Given the description of an element on the screen output the (x, y) to click on. 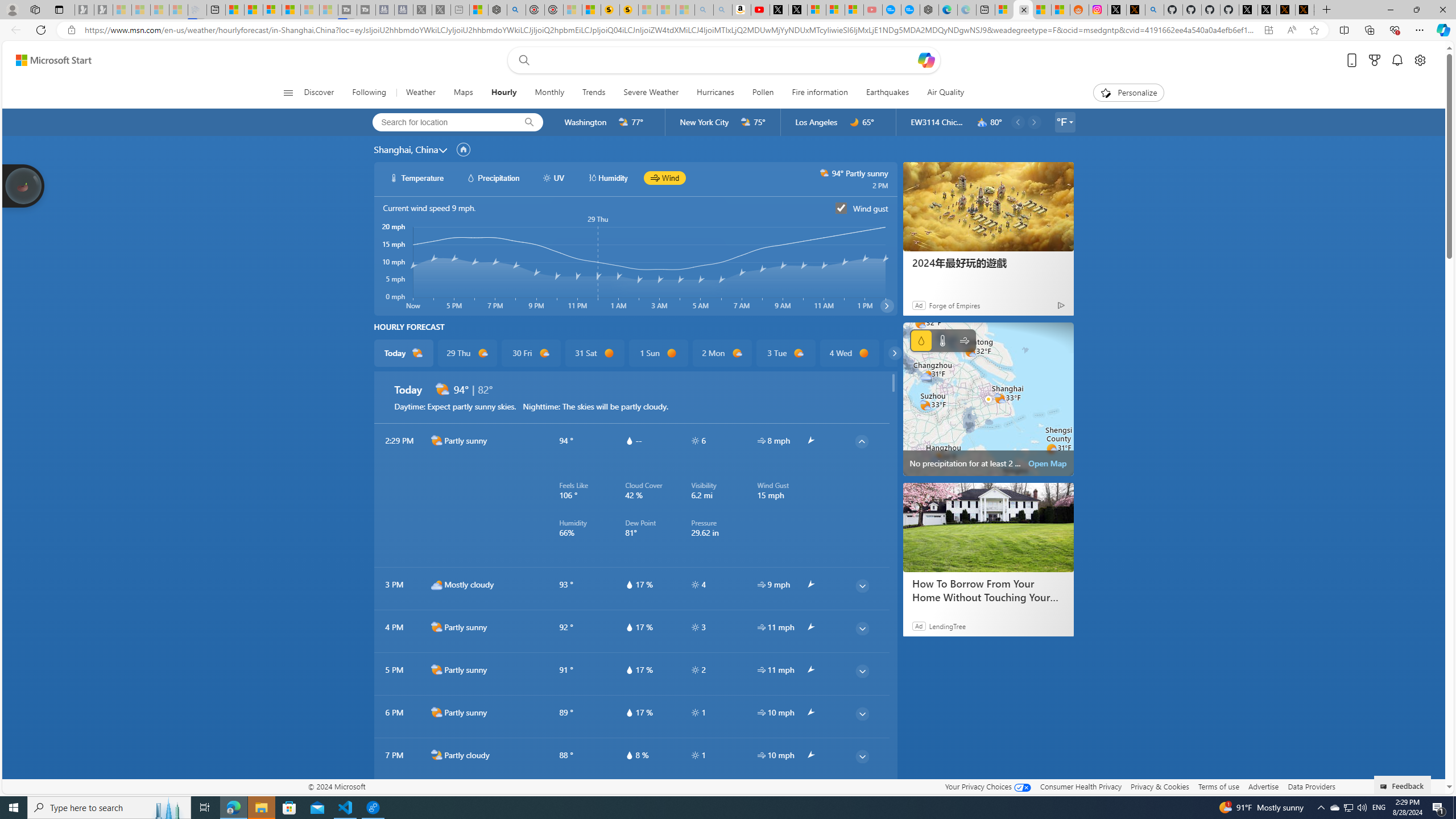
n3200 (981, 121)
GitHub (@github) / X (1267, 9)
Trends (593, 92)
Terms of use (1218, 786)
Your Privacy Choices (987, 786)
Gloom - YouTube - Sleeping (872, 9)
hourlyChart/windBlack (655, 177)
Web search (520, 60)
Shanghai, China Weather trends | Microsoft Weather (1060, 9)
Wind (964, 340)
